Given the description of an element on the screen output the (x, y) to click on. 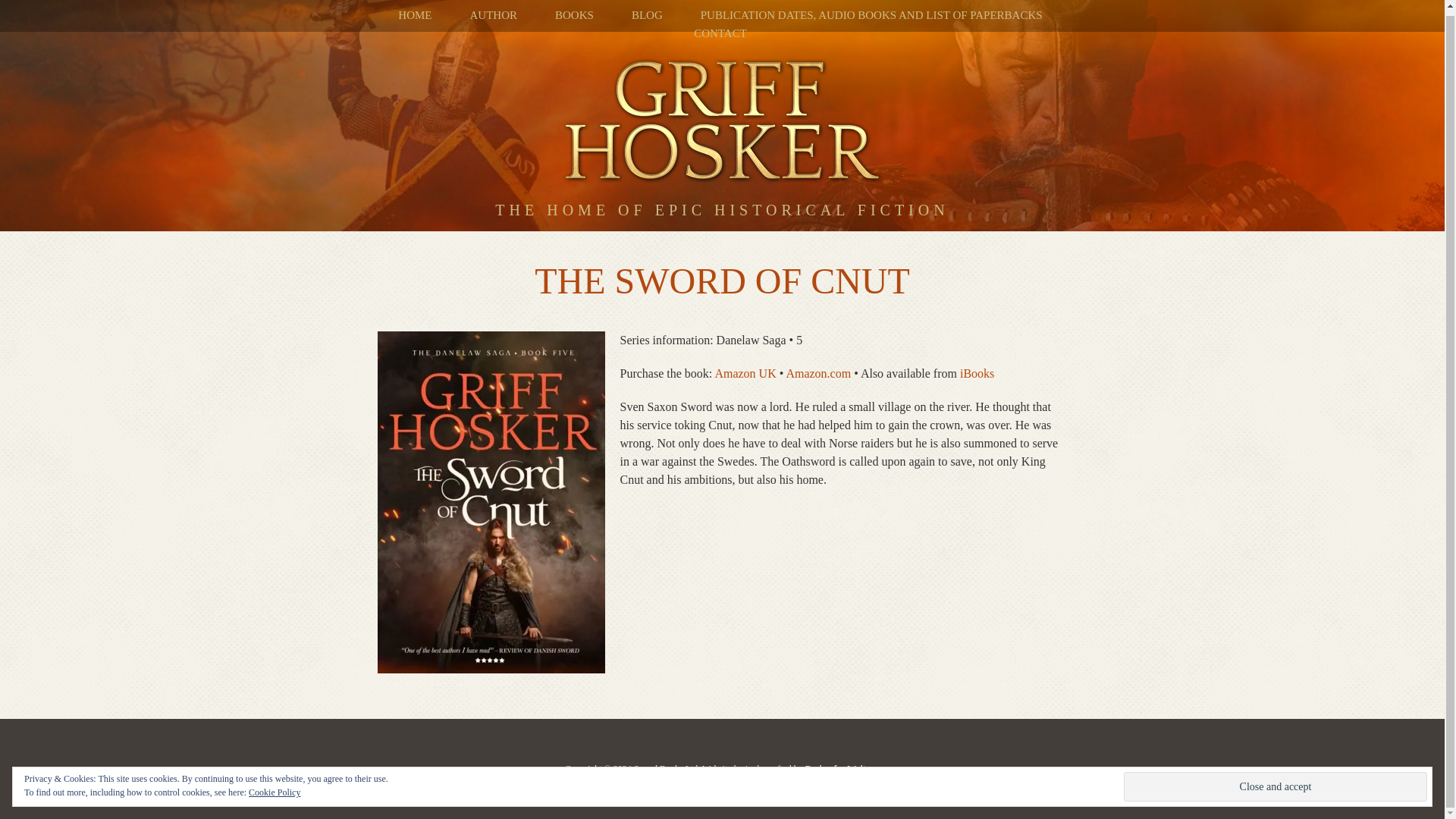
Amazon UK (745, 373)
iBooks (976, 373)
BLOG (646, 15)
Description (722, 253)
CONTACT (720, 33)
Cookie Policy (273, 787)
PUBLICATION DATES, AUDIO BOOKS AND LIST OF PAPERBACKS (871, 15)
BOOKS (573, 15)
Design for Writers (841, 768)
THE HOME OF EPIC HISTORICAL FICTION (722, 253)
